Given the description of an element on the screen output the (x, y) to click on. 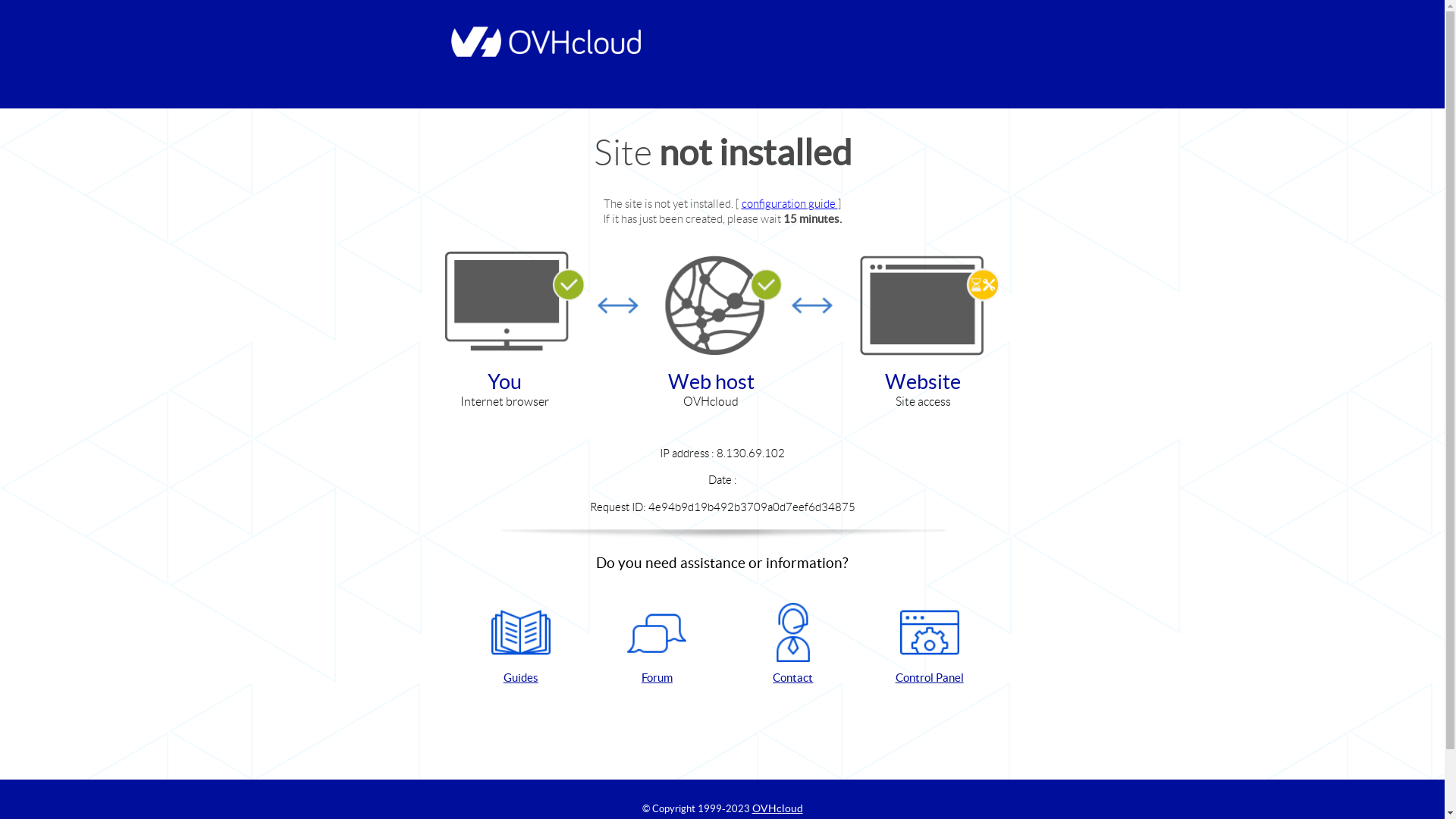
configuration guide Element type: text (789, 203)
Control Panel Element type: text (929, 644)
Contact Element type: text (792, 644)
Guides Element type: text (520, 644)
OVHcloud Element type: text (777, 808)
Forum Element type: text (656, 644)
